Given the description of an element on the screen output the (x, y) to click on. 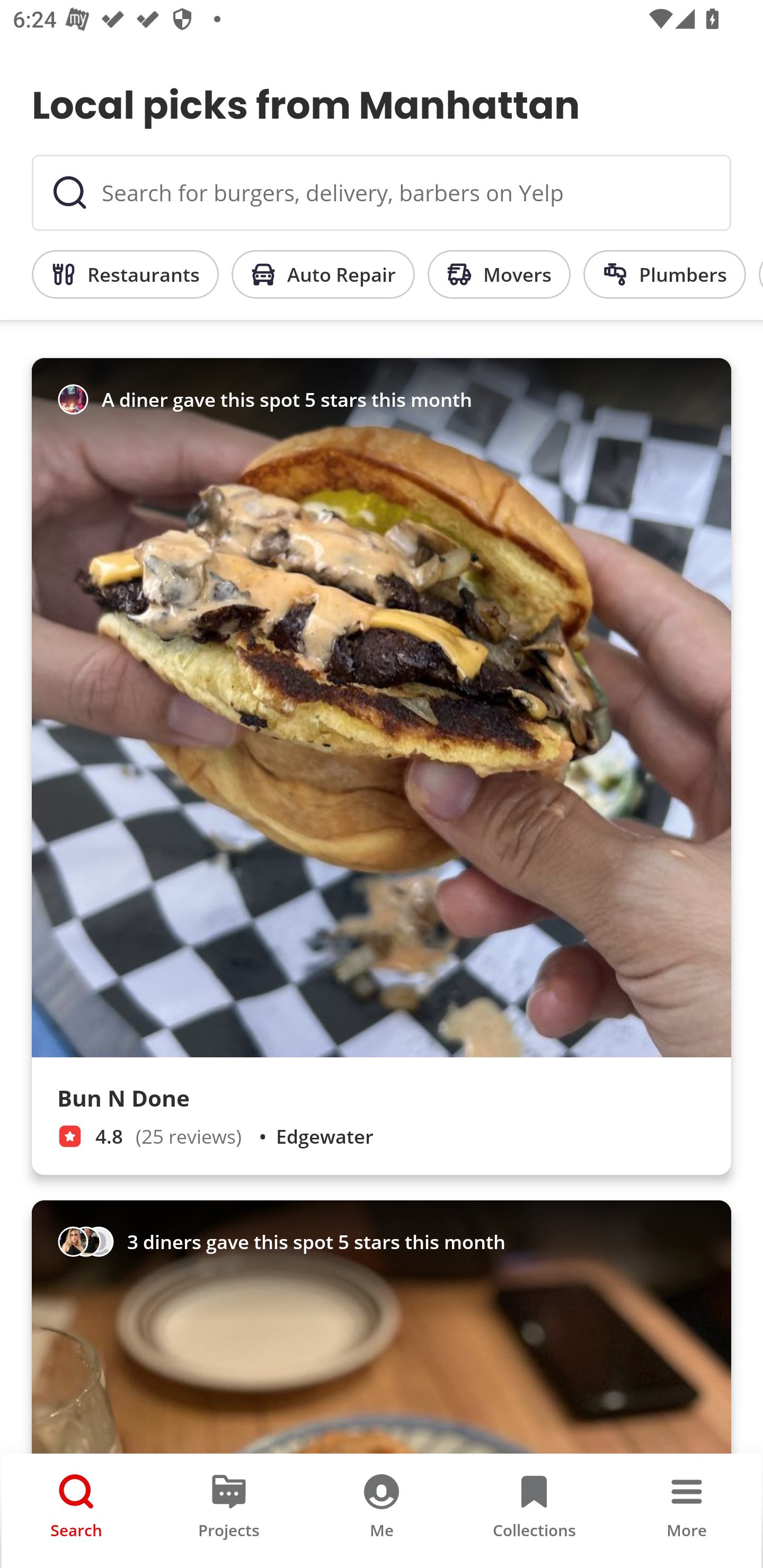
Search for burgers, delivery, barbers on Yelp (381, 192)
